Given the description of an element on the screen output the (x, y) to click on. 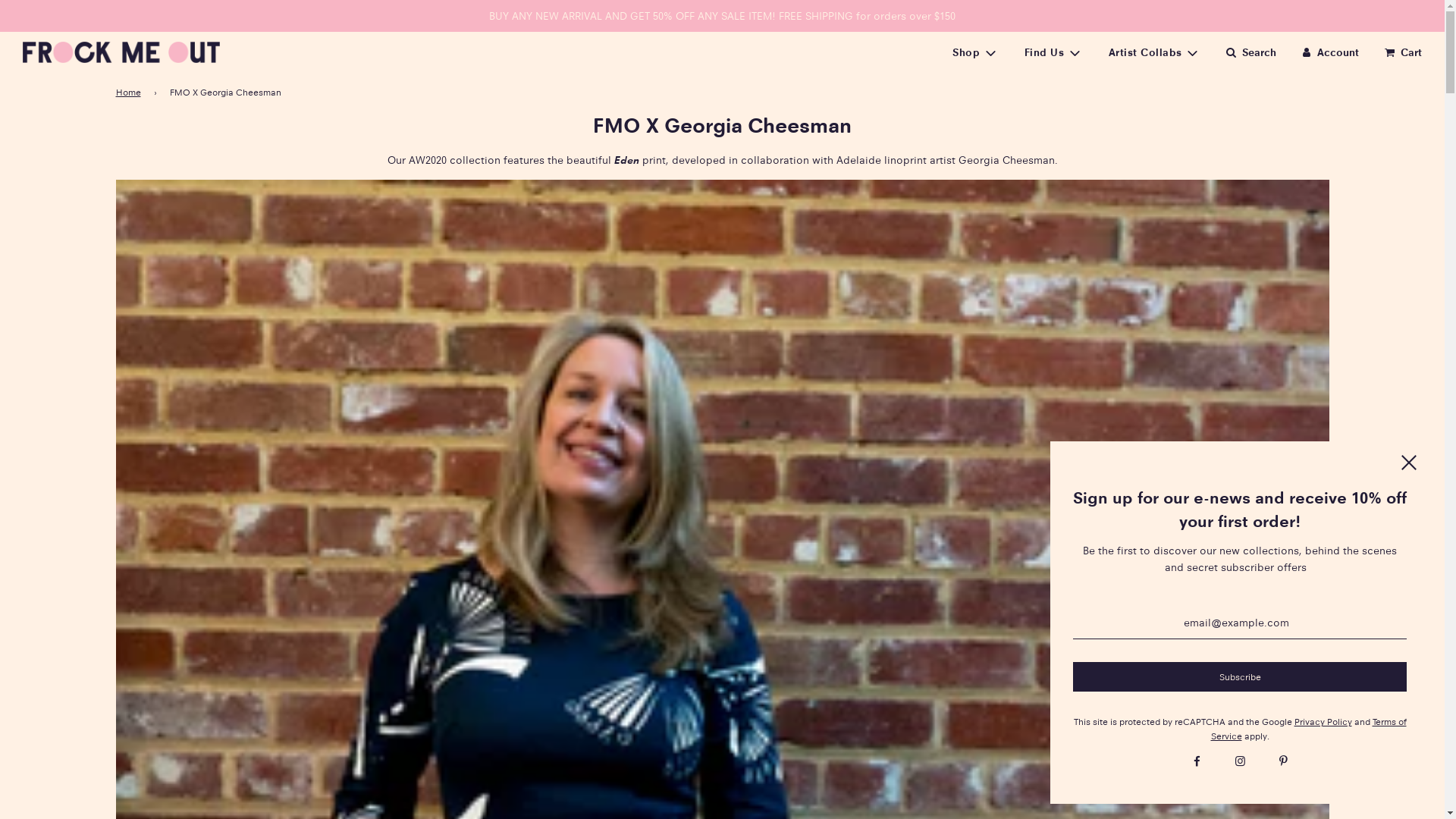
Subscribe Element type: text (1239, 676)
Find Us Element type: text (1053, 51)
Terms of Service Element type: text (1307, 728)
Account Element type: text (1329, 52)
Search Element type: text (1249, 52)
Home Element type: text (130, 91)
Privacy Policy Element type: text (1322, 721)
Shop Element type: text (975, 51)
Artist Collabs Element type: text (1154, 51)
Cart Element type: text (1401, 52)
